Given the description of an element on the screen output the (x, y) to click on. 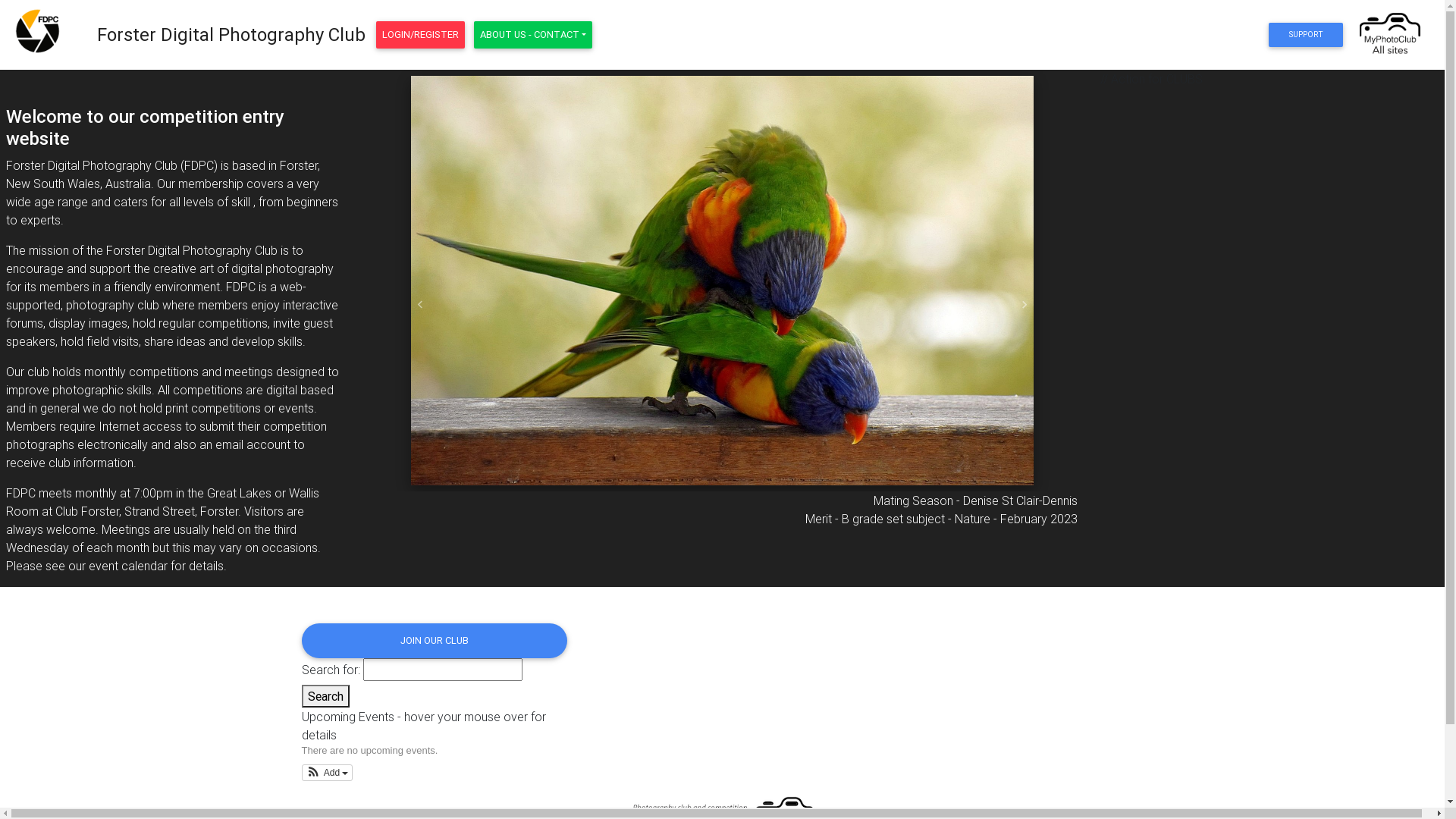
Forster Digital Photography Club Element type: text (231, 35)
ABOUT US - CONTACT Element type: text (532, 34)
Next Element type: text (1024, 304)
SUPPORT Element type: text (1305, 34)
LOGIN/REGISTER Element type: text (420, 34)
Search Element type: text (325, 695)
JOIN OUR CLUB Element type: text (434, 640)
Previous Element type: text (420, 304)
